Given the description of an element on the screen output the (x, y) to click on. 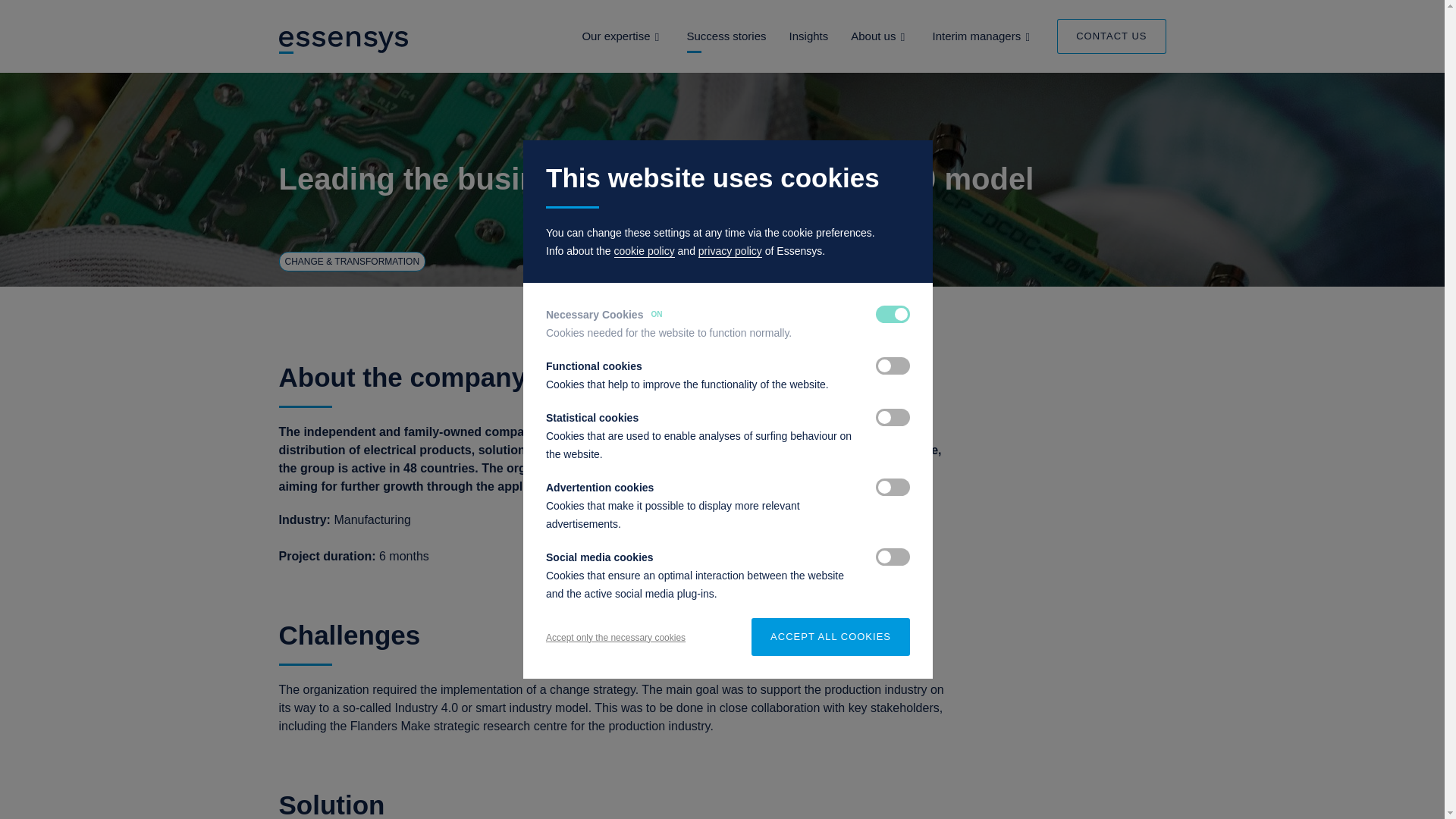
ACCEPT ALL COOKIES (830, 637)
privacy policy (729, 250)
About us (872, 35)
cookie policy (644, 250)
Success stories (727, 35)
CONTACT US (1111, 36)
Home (344, 41)
Accept only the necessary cookies (615, 637)
Our expertise (614, 35)
